Given the description of an element on the screen output the (x, y) to click on. 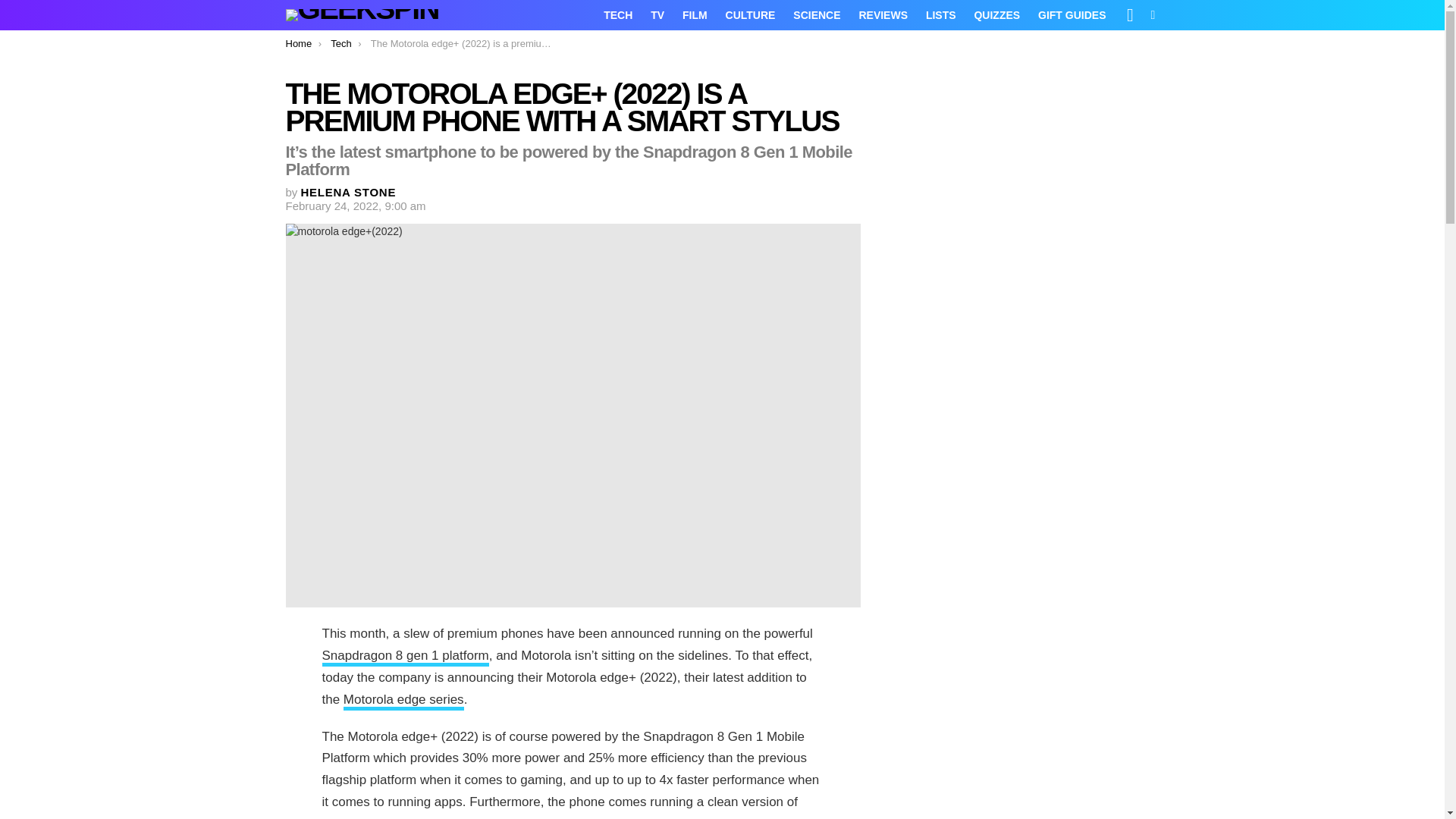
QUIZZES (996, 15)
FILM (694, 15)
TECH (617, 15)
Snapdragon 8 gen 1 platform (404, 657)
GIFT GUIDES (1071, 15)
REVIEWS (882, 15)
CULTURE (750, 15)
Tech (340, 43)
LISTS (940, 15)
HELENA STONE (348, 192)
